Given the description of an element on the screen output the (x, y) to click on. 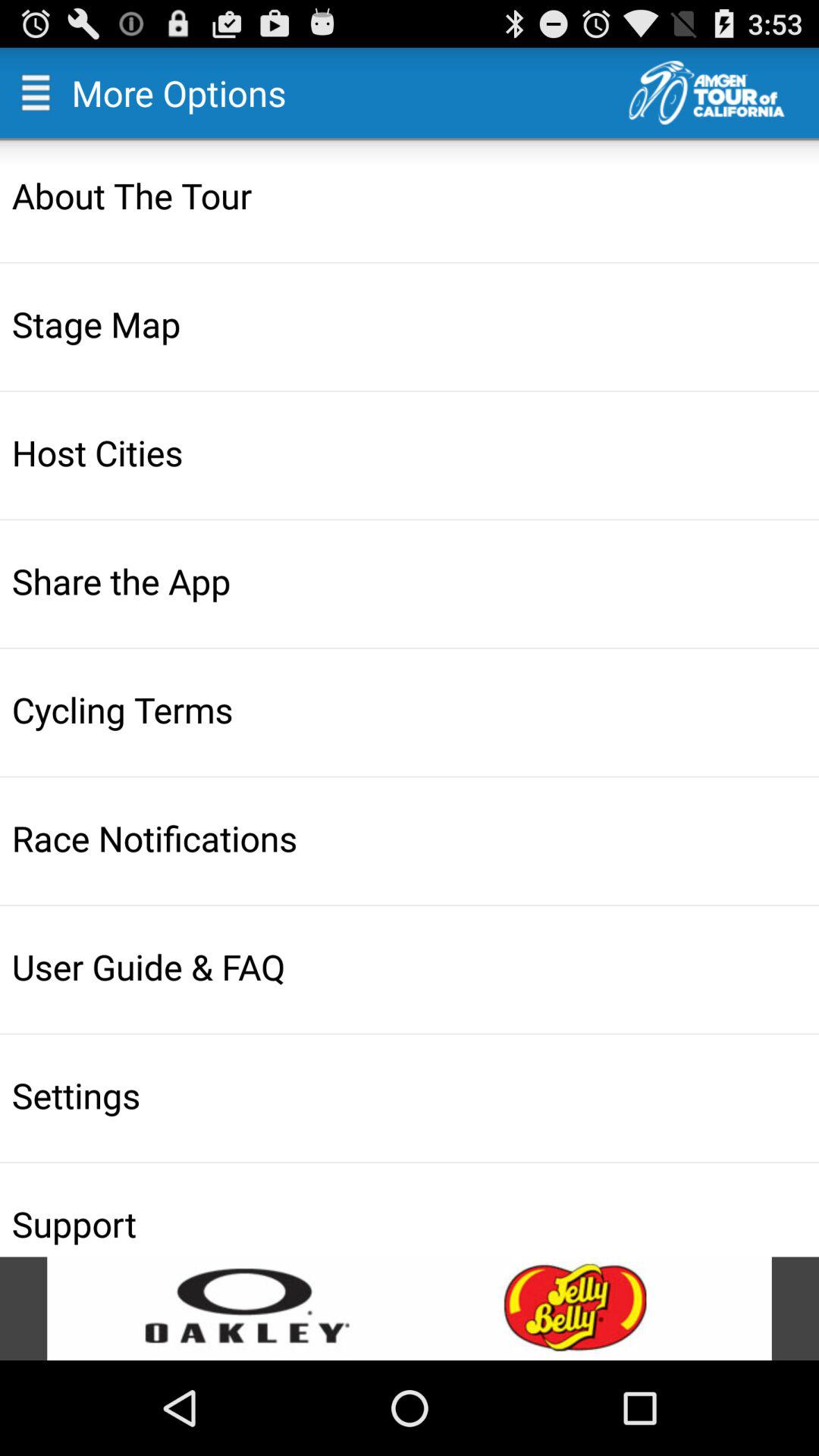
flip until user guide & faq item (411, 966)
